Given the description of an element on the screen output the (x, y) to click on. 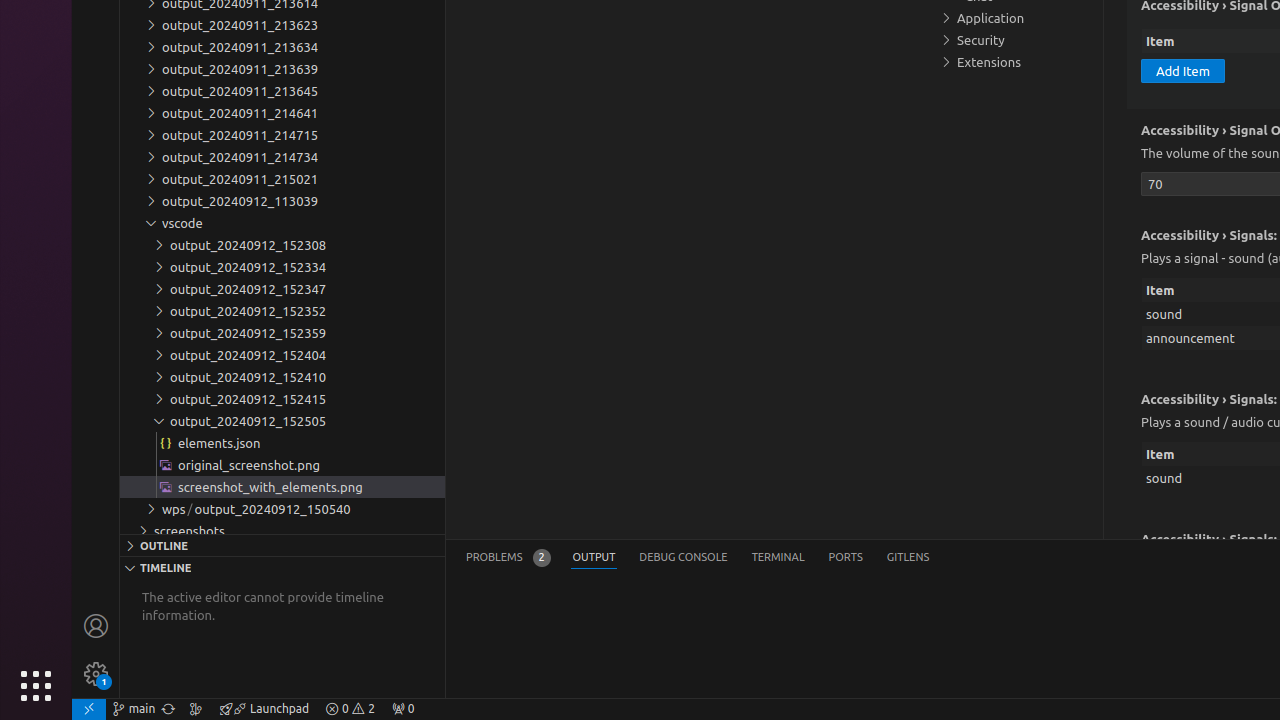
output_20240911_213639 Element type: tree-item (282, 69)
Output (Ctrl+K Ctrl+H) Element type: page-tab (594, 557)
output_20240912_150540 Element type: tree-item (282, 509)
Ports Element type: page-tab (845, 557)
